Given the description of an element on the screen output the (x, y) to click on. 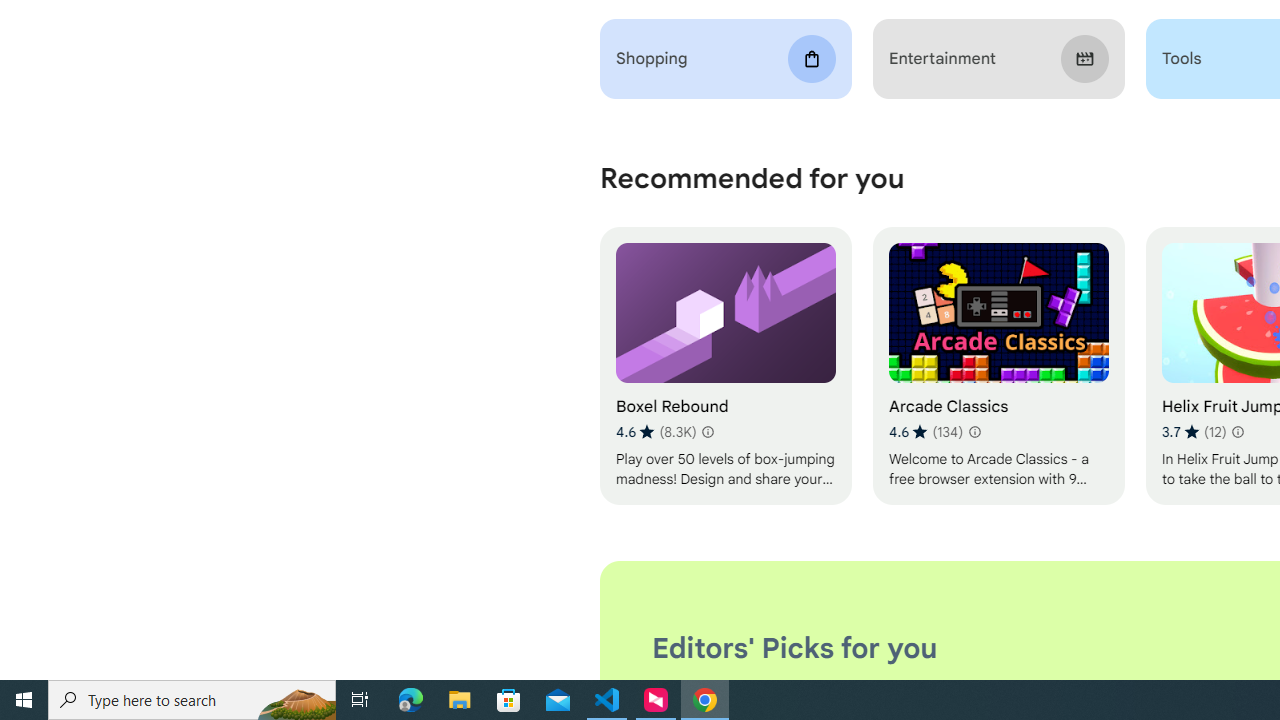
Boxel Rebound (725, 366)
Shopping (725, 59)
Learn more about results and reviews "Arcade Classics" (973, 431)
Entertainment (998, 59)
Average rating 4.6 out of 5 stars. 8.3K ratings. (655, 431)
Learn more about results and reviews "Boxel Rebound" (707, 431)
Arcade Classics (998, 366)
Average rating 4.6 out of 5 stars. 134 ratings. (925, 431)
Average rating 3.7 out of 5 stars. 12 ratings. (1193, 431)
